Given the description of an element on the screen output the (x, y) to click on. 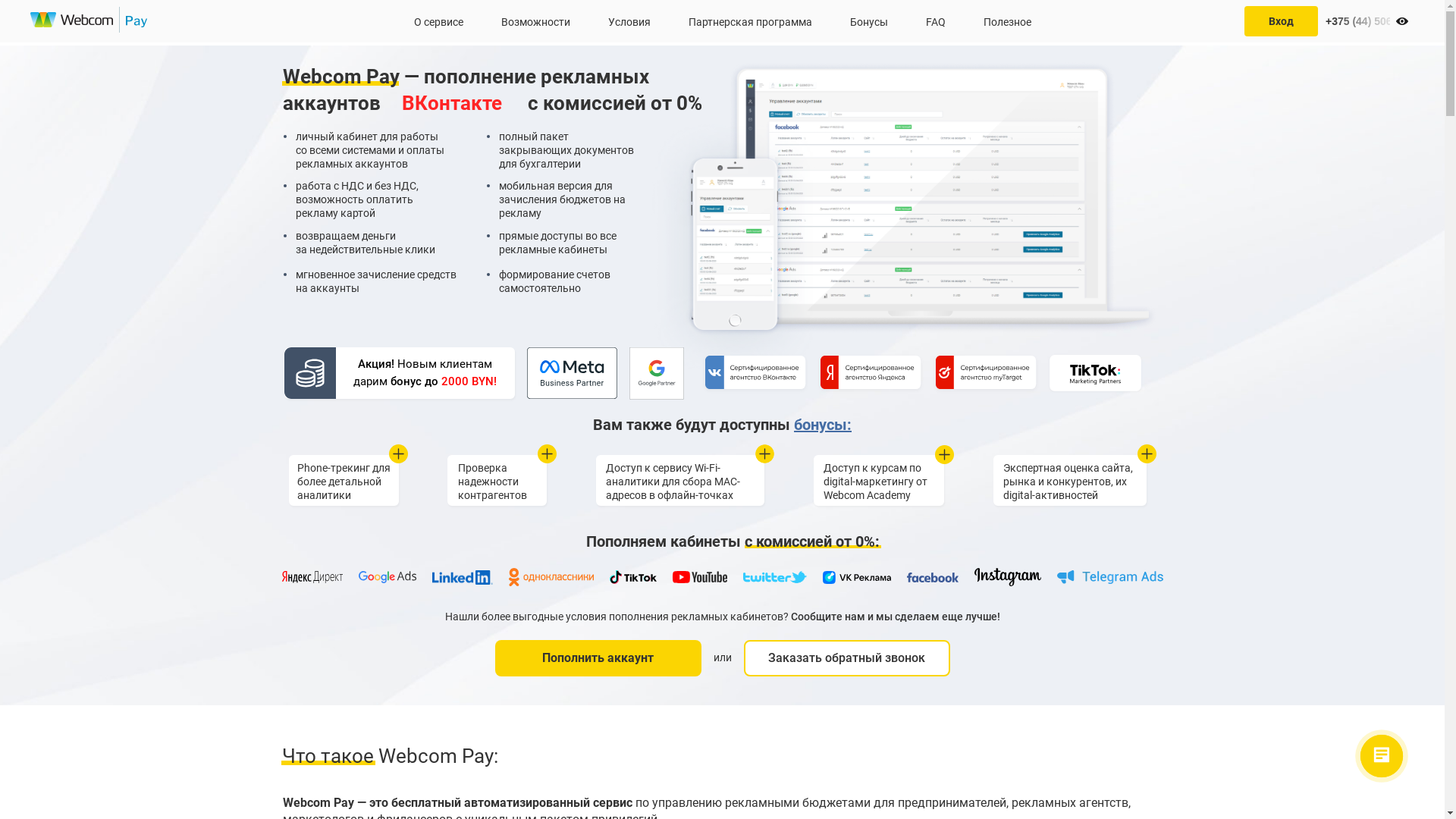
FAQ Element type: text (934, 21)
